Given the description of an element on the screen output the (x, y) to click on. 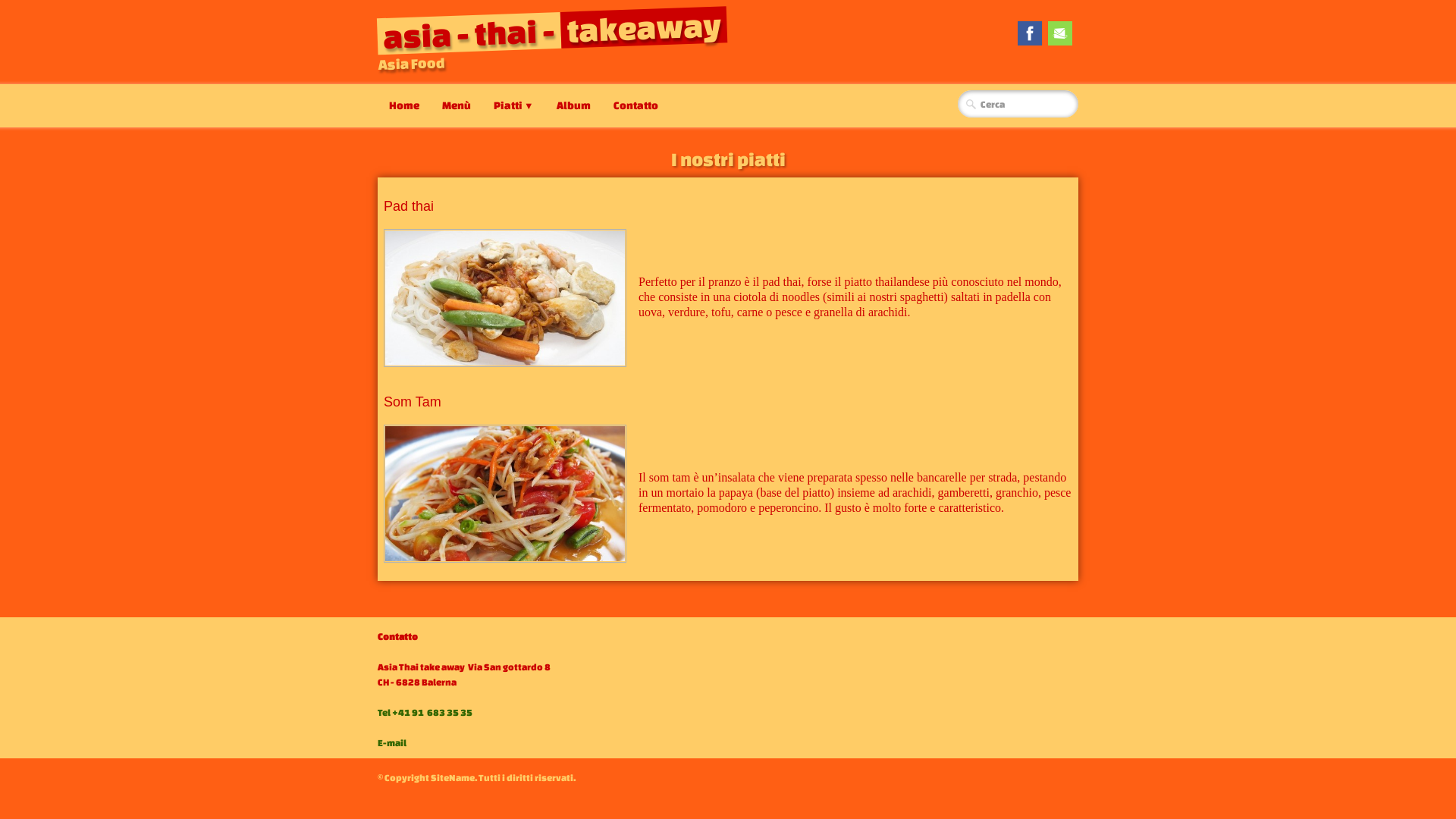
Home Element type: text (403, 105)
E-mail  Element type: text (392, 741)
Contatto Element type: text (635, 105)
Album Element type: text (573, 105)
Tel +41 91  683 35 35 Element type: text (424, 711)
asia - thai -takeaway
Asia Food Element type: text (556, 32)
